Given the description of an element on the screen output the (x, y) to click on. 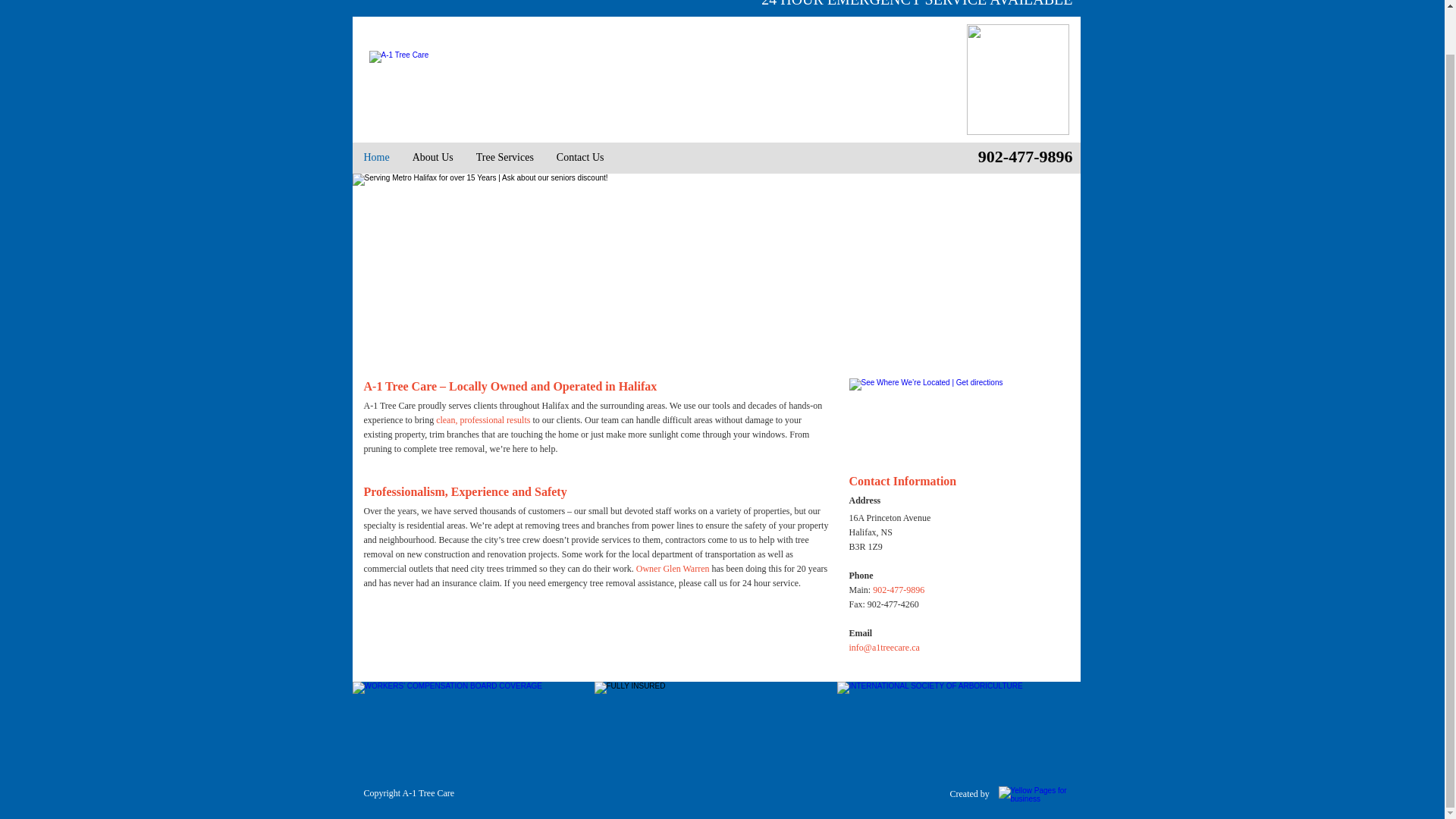
clean, professional results (482, 420)
Owner Glen Warren (673, 569)
902-477-9896 (1025, 156)
Home (376, 157)
902-477-9896 (898, 590)
A-1 Tree Care (428, 793)
Contact Us (579, 157)
Tree Services (504, 157)
About Us (432, 157)
